Given the description of an element on the screen output the (x, y) to click on. 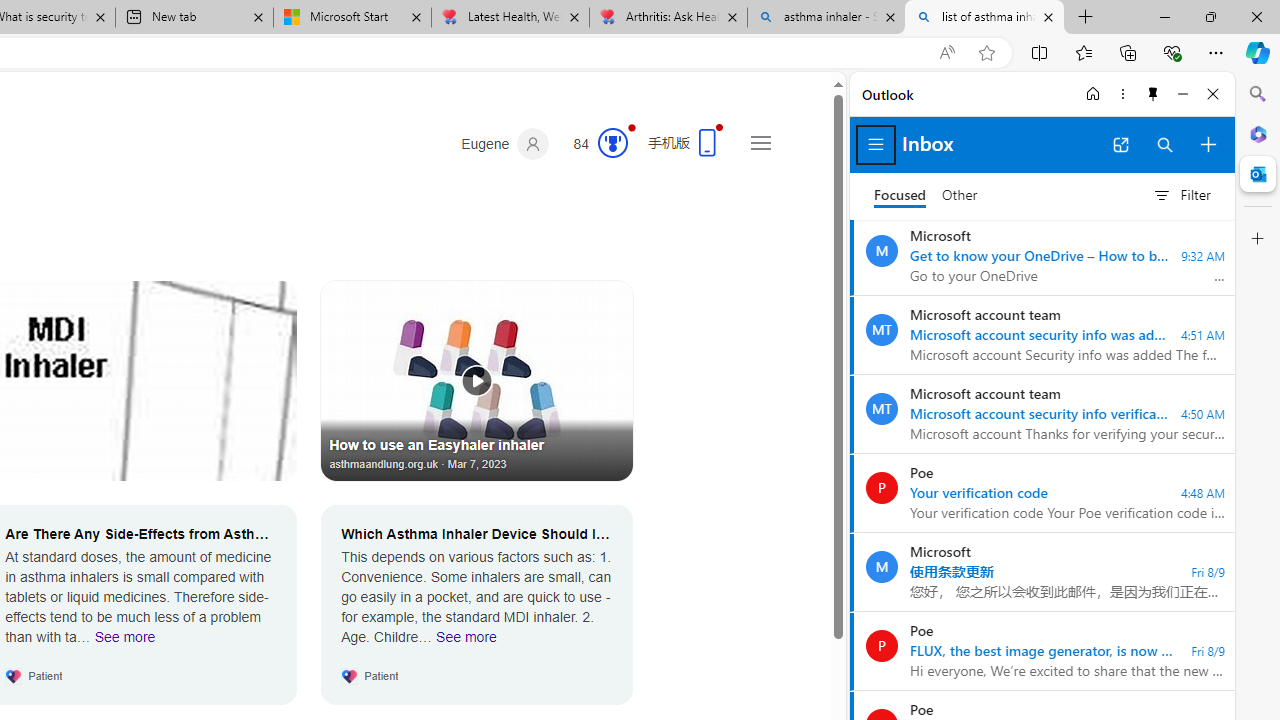
Folder navigation (876, 144)
Filter (1181, 195)
